Given the description of an element on the screen output the (x, y) to click on. 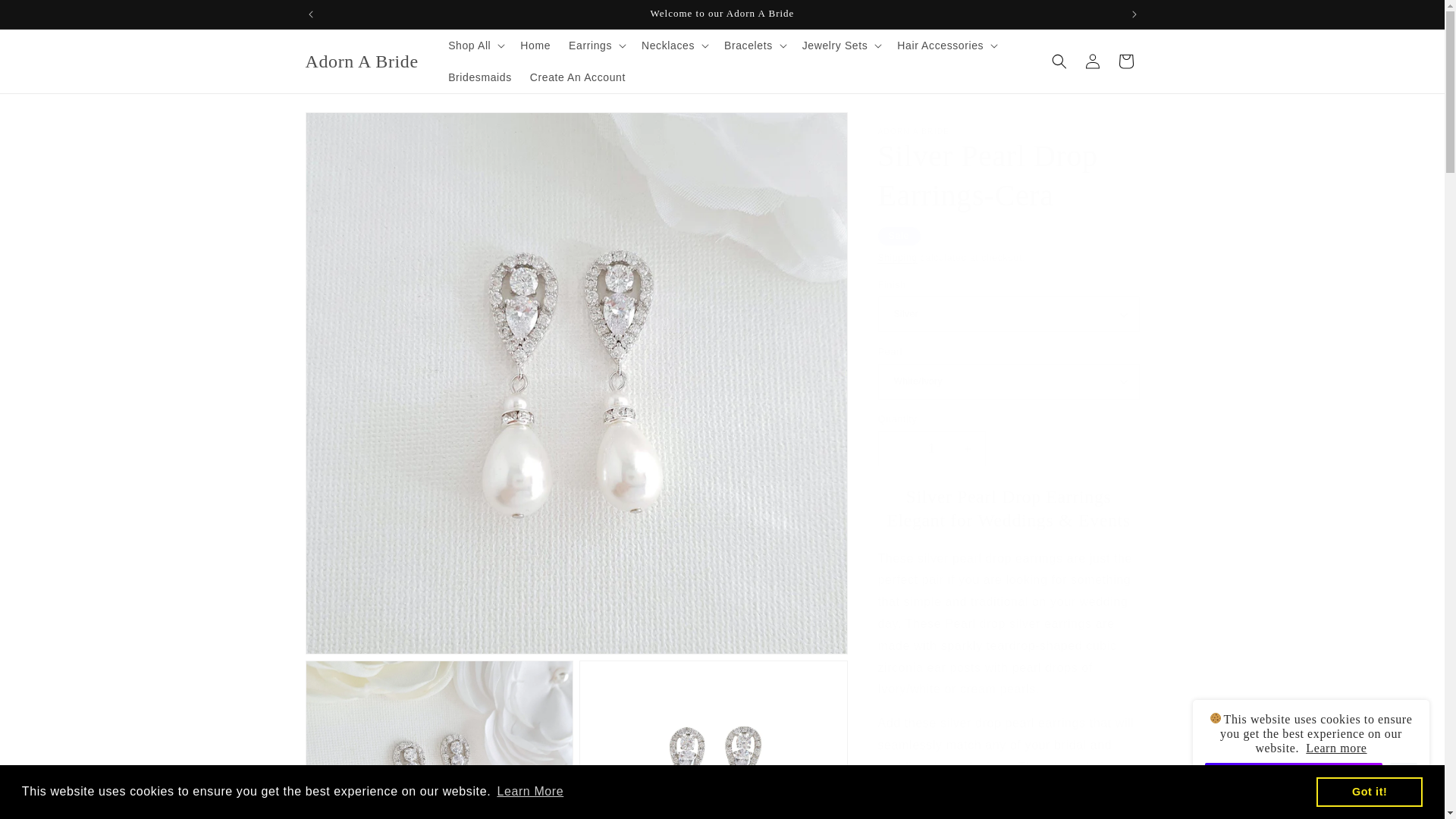
Learn More (530, 791)
1 (931, 448)
Open media 3 in modal (713, 739)
Got it! (1369, 791)
Open media 2 in modal (438, 739)
Skip to content (45, 17)
